Given the description of an element on the screen output the (x, y) to click on. 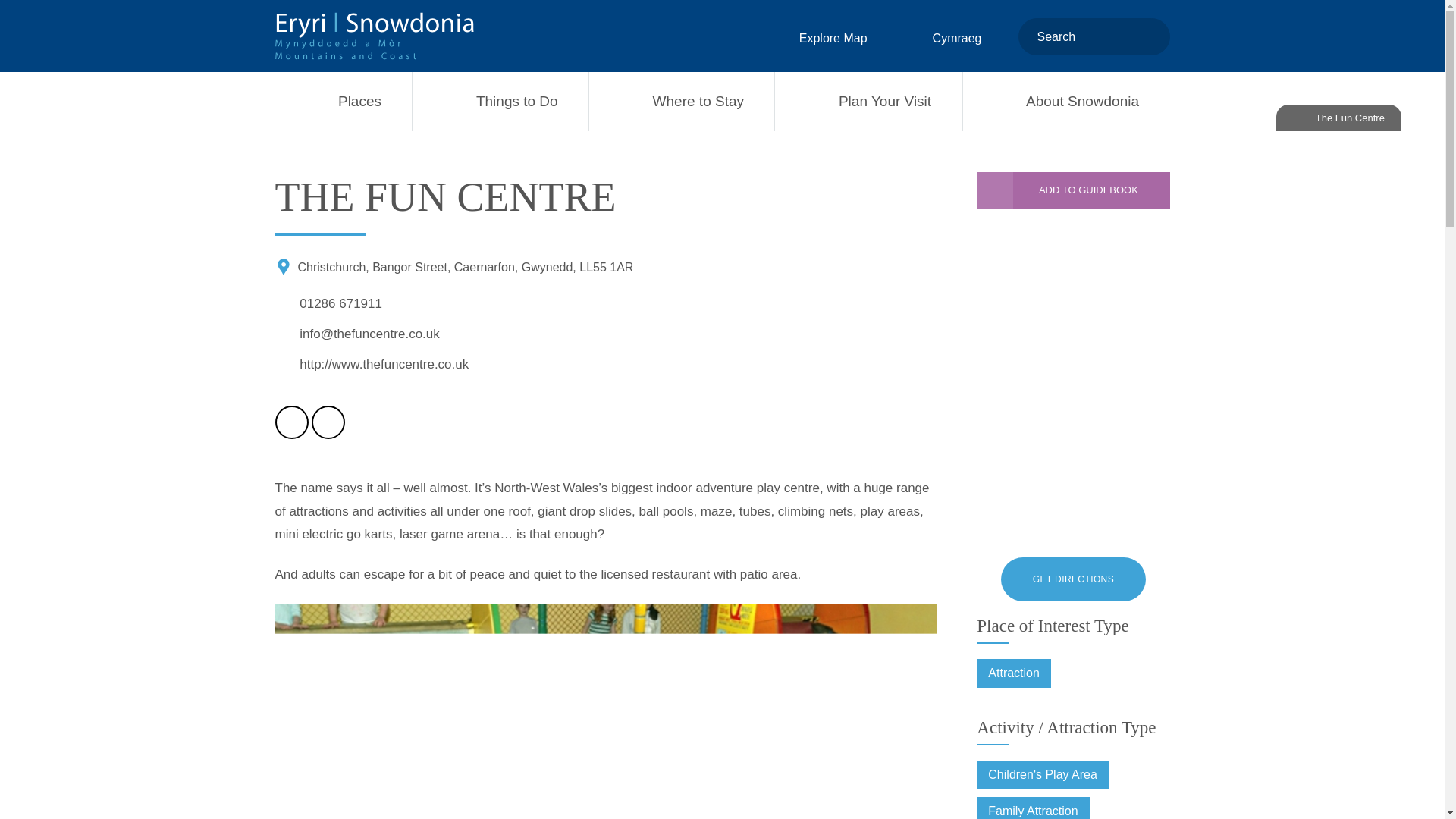
Cymraeg (942, 38)
Where to Stay (681, 101)
Things to Do (500, 101)
Places (343, 101)
Search icon Search website posts (1149, 37)
Home (374, 35)
Search (1149, 36)
About Snowdonia (1066, 101)
Language Select (942, 38)
Explore Map (818, 38)
Explore Map (818, 38)
Close Navigation (19, 19)
Search icon Search website posts (1149, 36)
Plan Your Visit (867, 101)
